Given the description of an element on the screen output the (x, y) to click on. 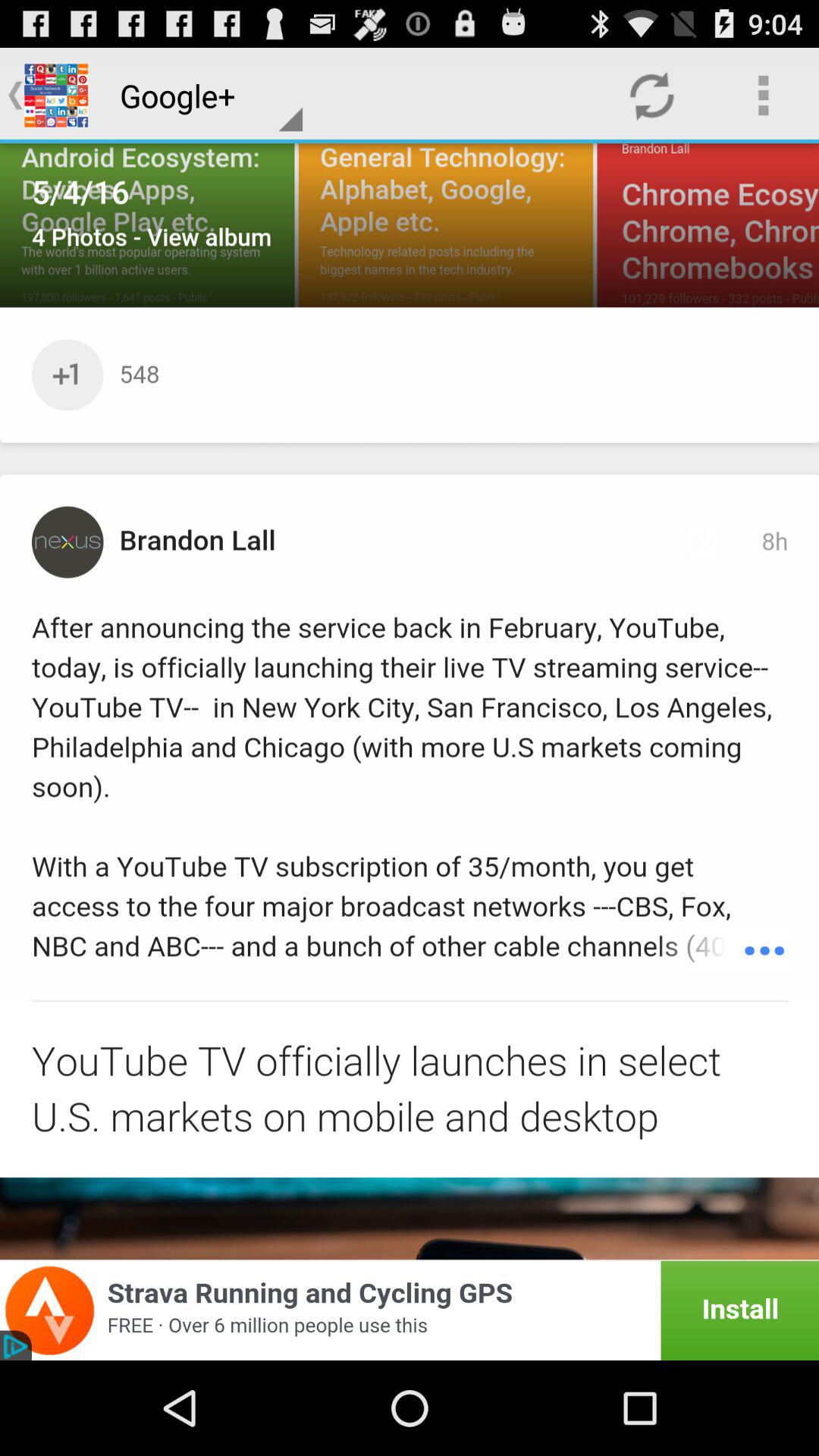
install strava (409, 1310)
